Given the description of an element on the screen output the (x, y) to click on. 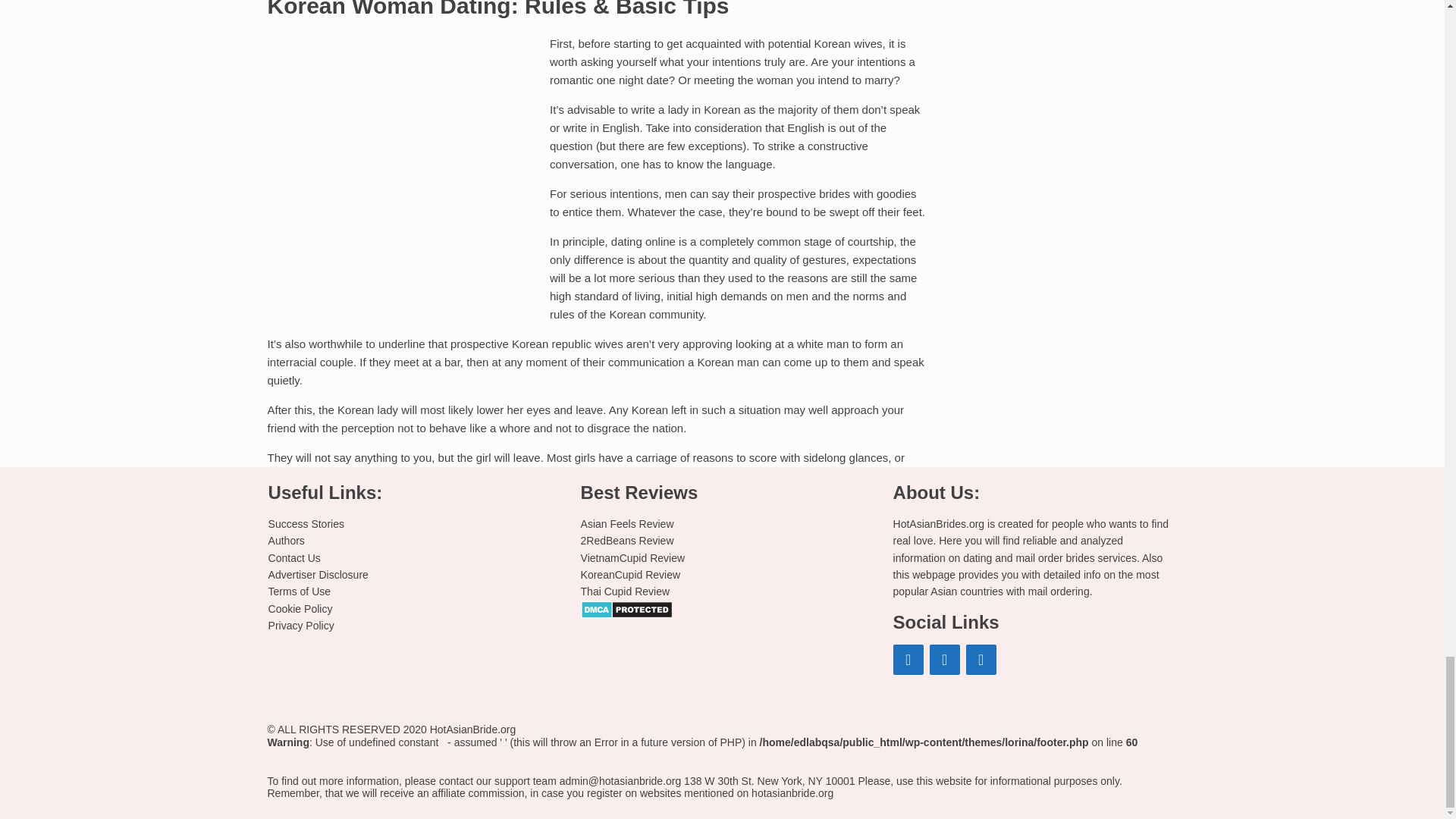
Twitter (980, 659)
DMCA.com Protection Status (626, 608)
YouTube (944, 659)
Pinterest (908, 659)
